Given the description of an element on the screen output the (x, y) to click on. 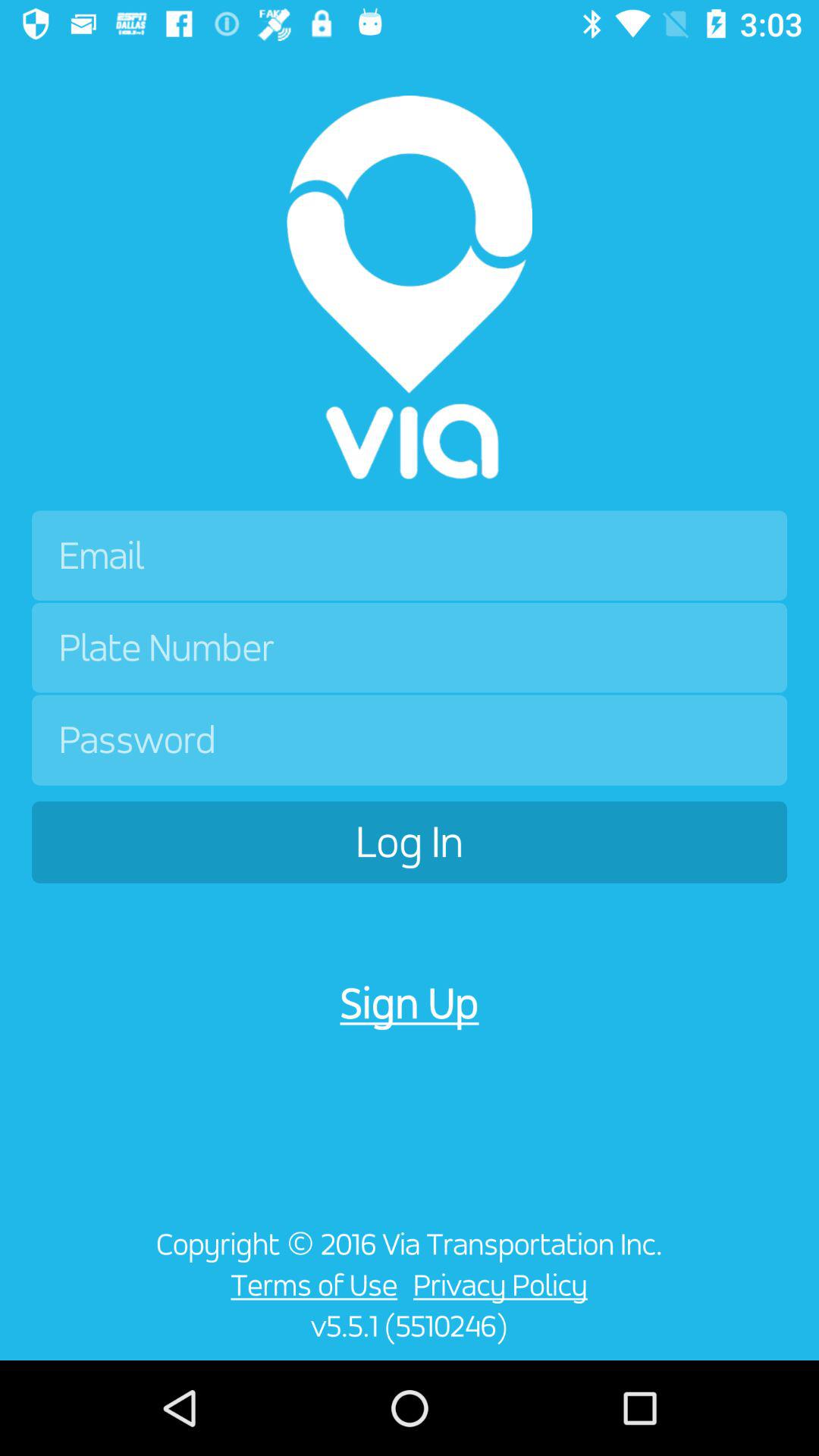
launch icon above the v5 5 1 item (309, 1284)
